Given the description of an element on the screen output the (x, y) to click on. 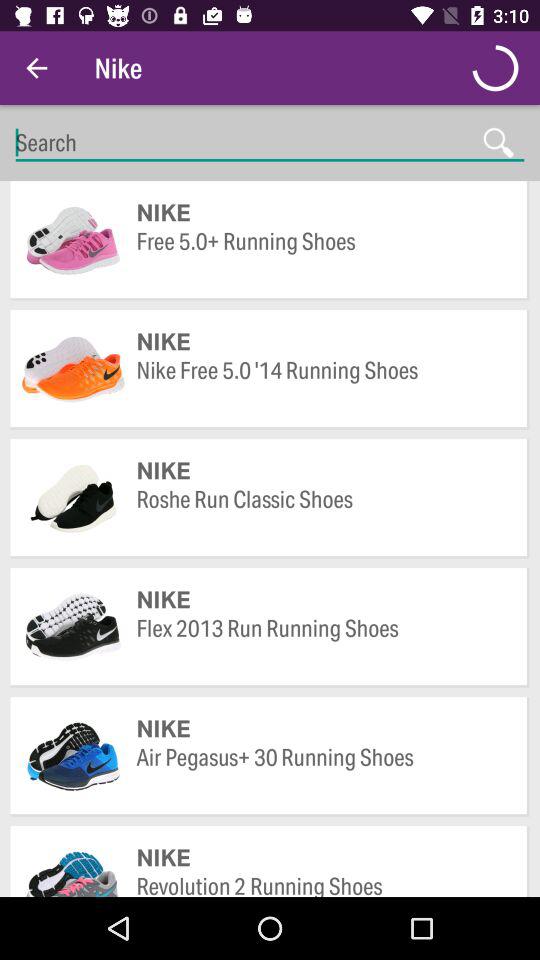
click icon below nike item (322, 514)
